Given the description of an element on the screen output the (x, y) to click on. 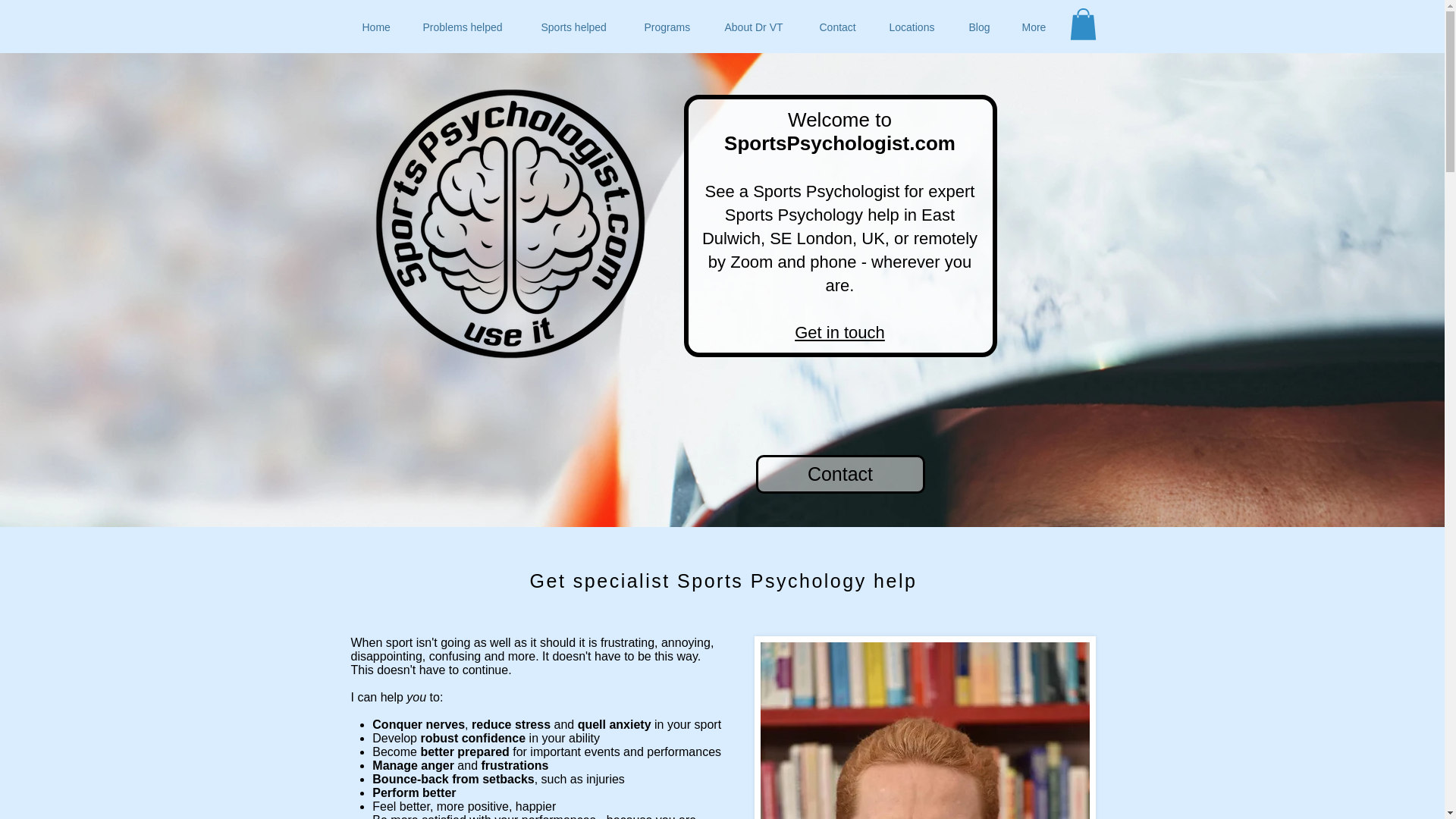
About Dr VT (760, 26)
Home (380, 26)
Contact (842, 26)
Blog (983, 26)
Locations (917, 26)
Programs (672, 26)
Get in touch (839, 332)
Contact (839, 474)
Twitter Follow (1058, 71)
Problems helped (469, 26)
Sports helped (580, 26)
